Given the description of an element on the screen output the (x, y) to click on. 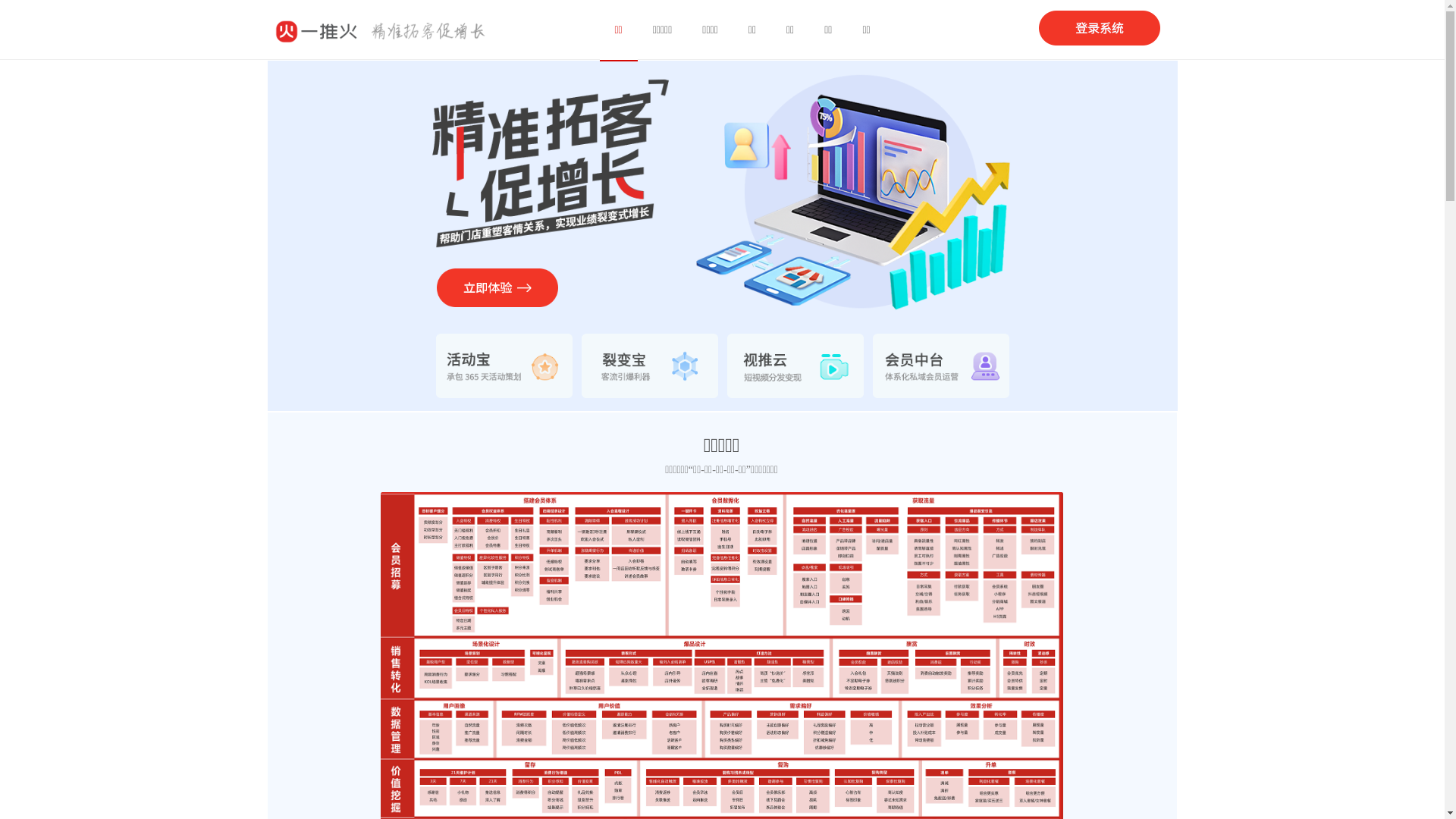
1670982502986783.png Element type: hover (794, 365)
1670982421460668.png Element type: hover (503, 365)
1669518102265835.png Element type: hover (497, 287)
1670982475352453.png Element type: hover (648, 365)
1670656190859010.png Element type: hover (1099, 27)
1669730001995779.png Element type: hover (438, 30)
1669623892138865.png Element type: hover (316, 31)
1670982524890586.png Element type: hover (940, 365)
